Given the description of an element on the screen output the (x, y) to click on. 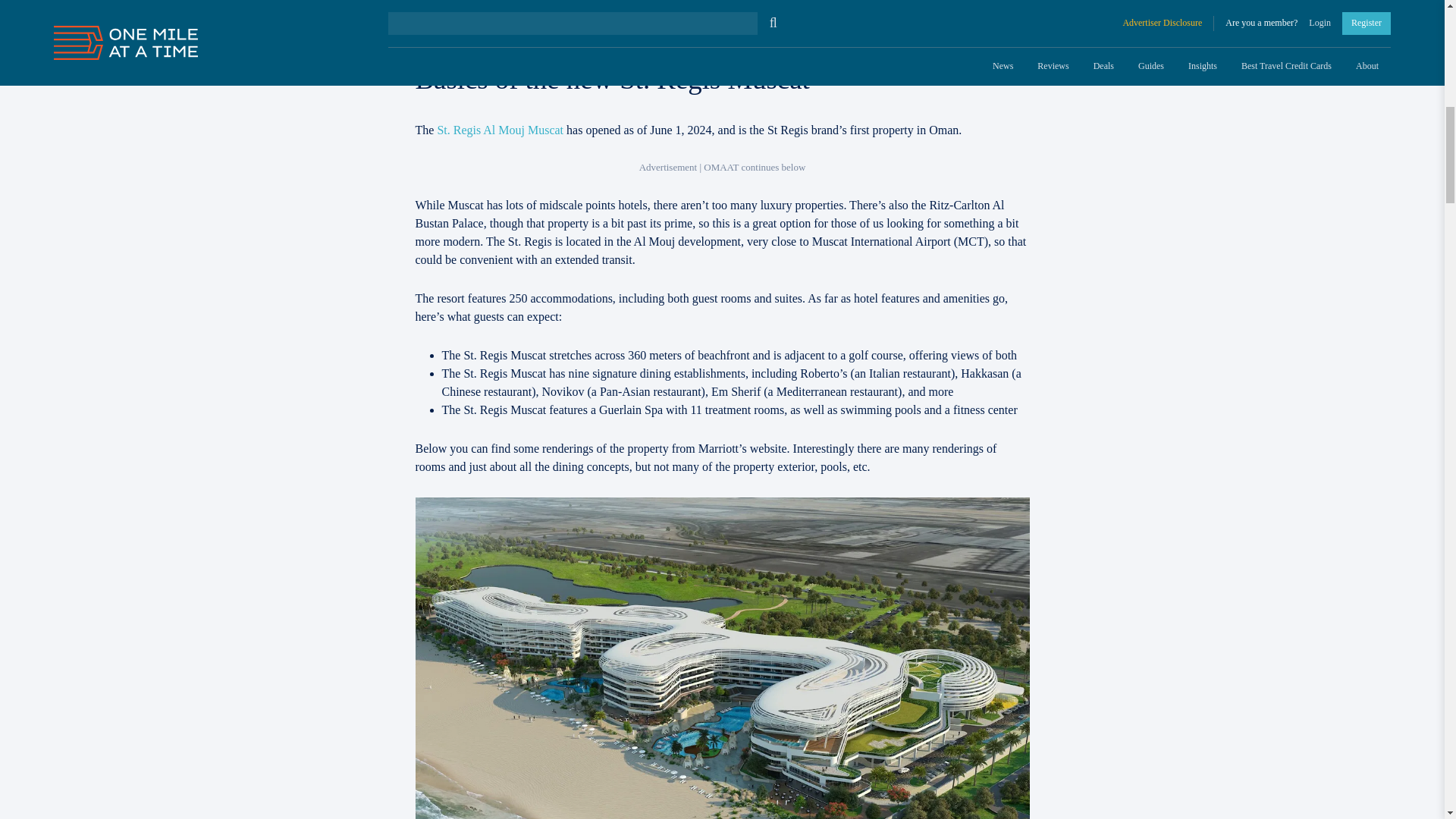
Bottom line (474, 2)
Bottom line (474, 2)
